Given the description of an element on the screen output the (x, y) to click on. 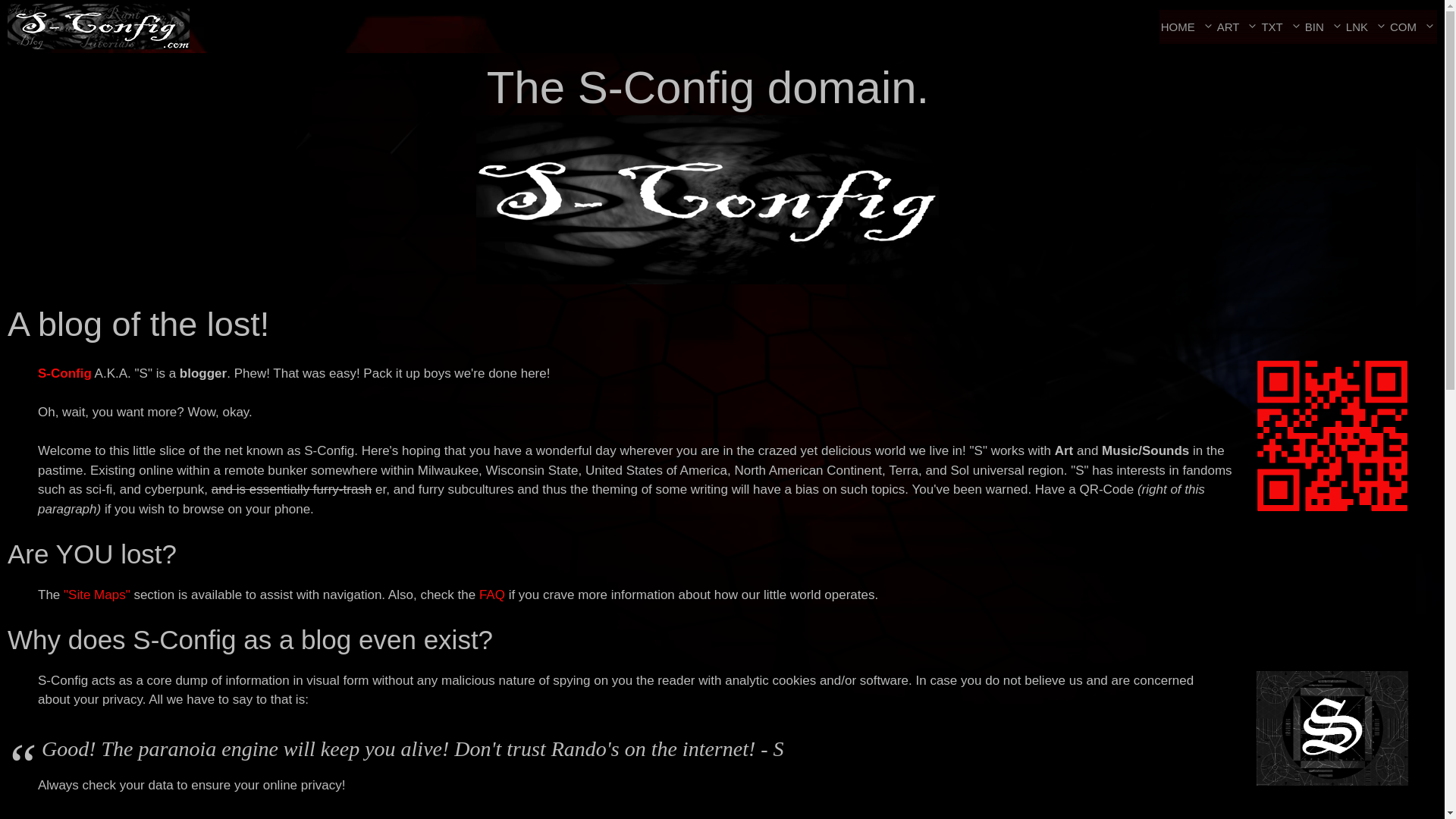
Home information of S-Config.com. (1186, 26)
ART (1237, 26)
"Site Maps" (97, 594)
TXT (1281, 26)
Communications for social and E-mail. (1413, 26)
Art both drawn and written (1237, 26)
Blogs and Text. (1281, 26)
Binaries (1323, 26)
BIN (1323, 26)
COM (1413, 26)
LNK (1366, 26)
FAQ (492, 594)
FAQ about S-Config.com (492, 594)
HOME (1186, 26)
S-Config (64, 373)
